Given the description of an element on the screen output the (x, y) to click on. 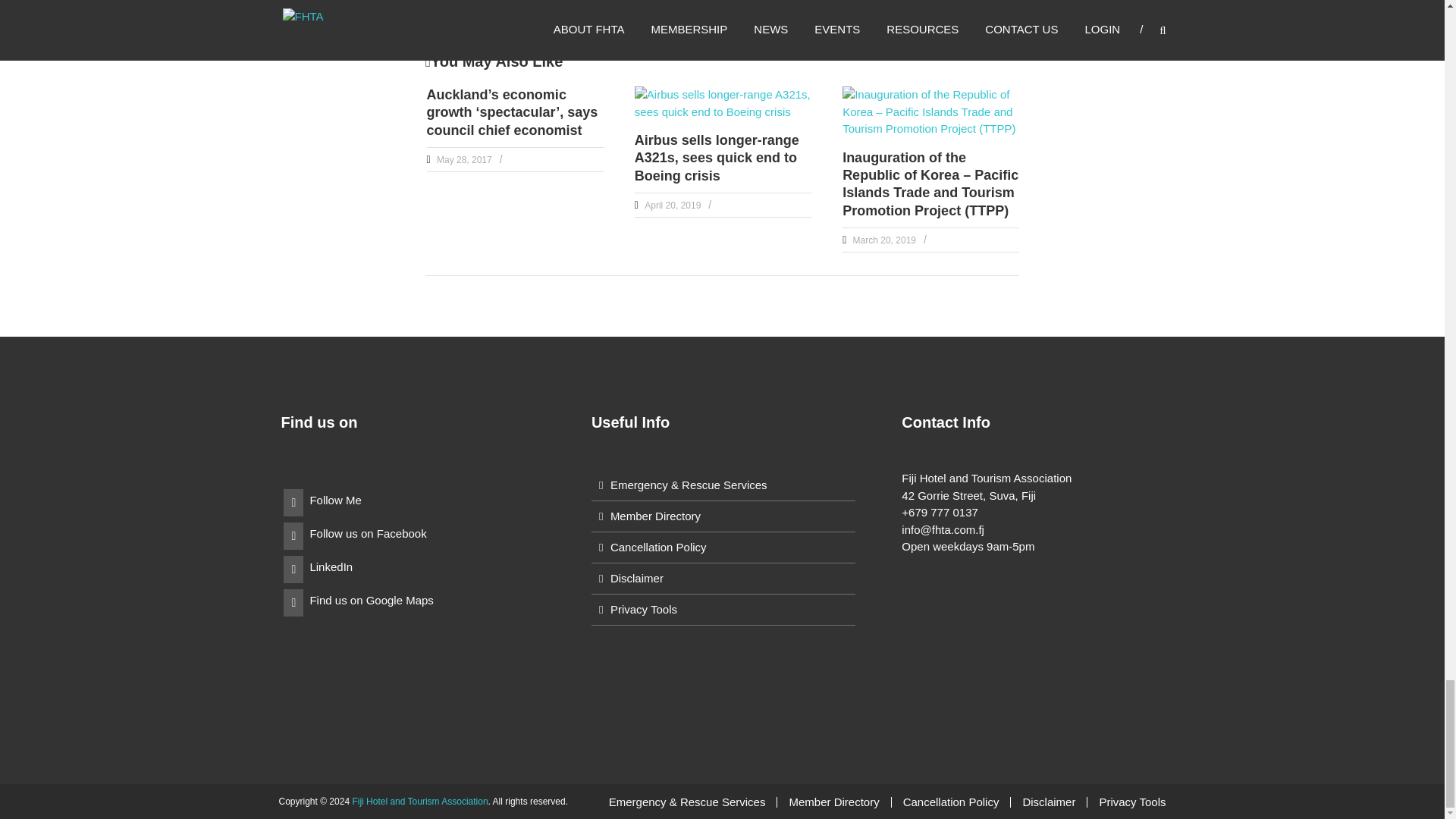
11:10 am (462, 159)
11:53 am (671, 204)
